Given the description of an element on the screen output the (x, y) to click on. 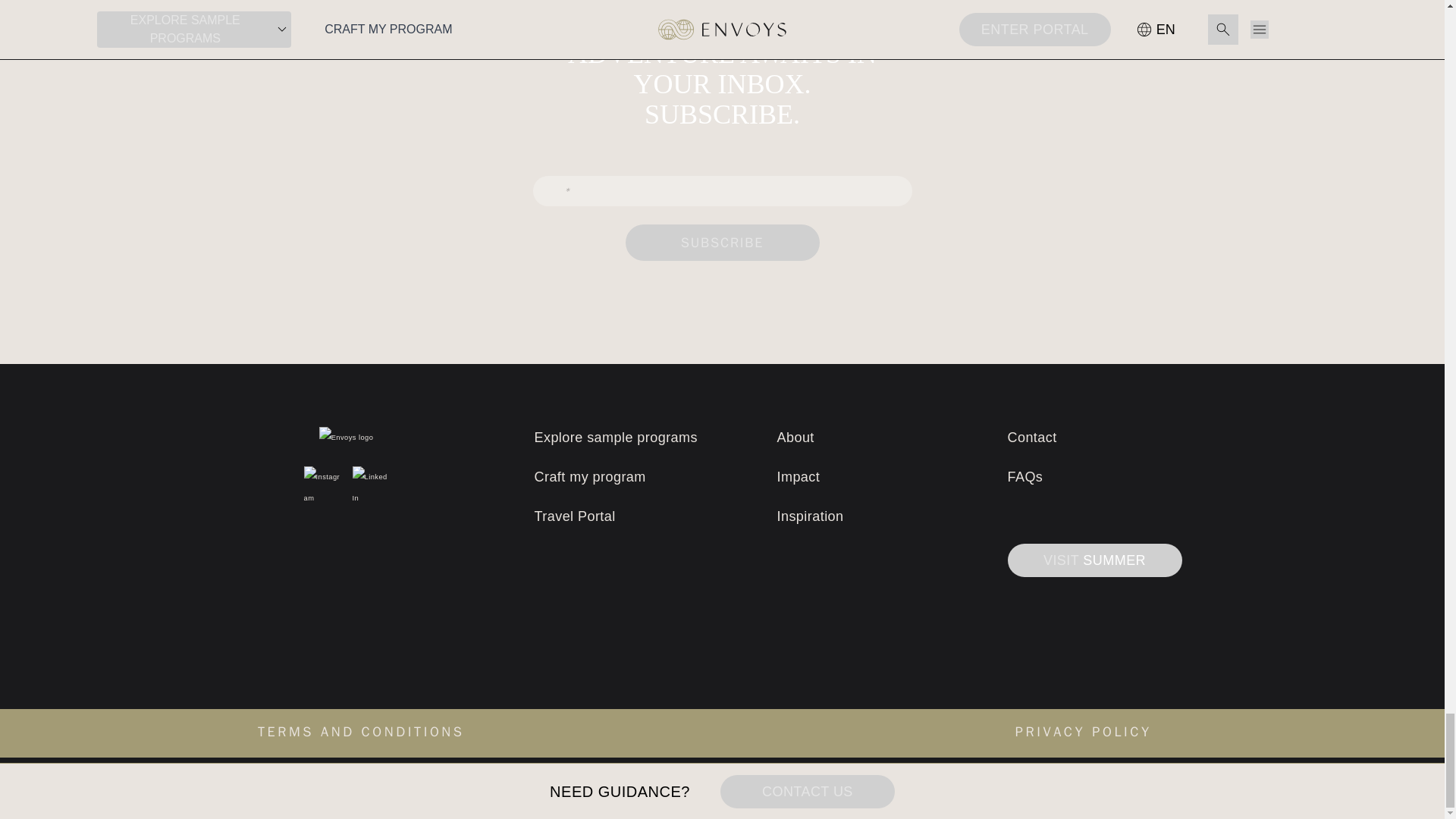
Subscribe (721, 242)
